Given the description of an element on the screen output the (x, y) to click on. 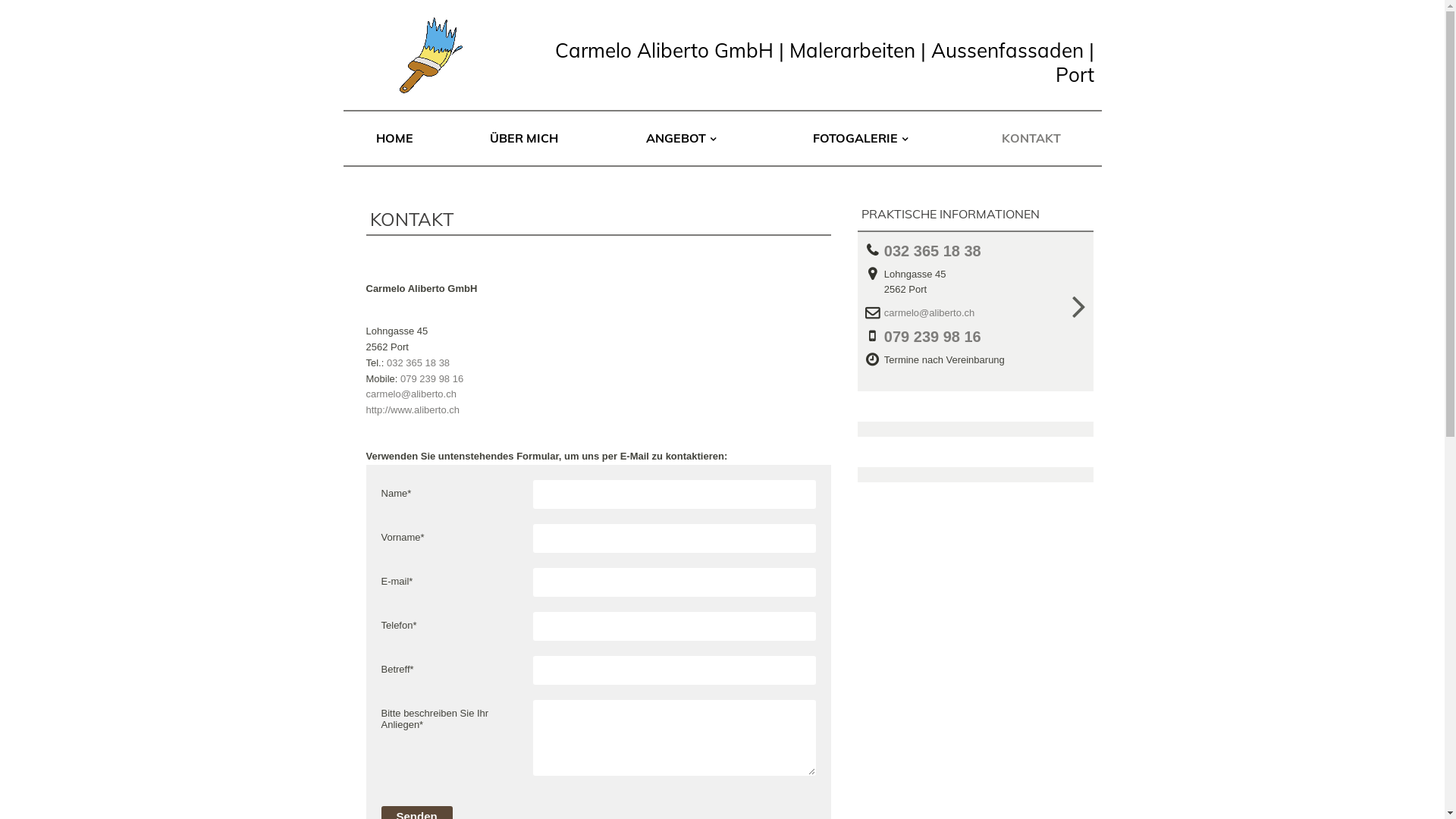
032 365 18 38 Element type: text (936, 251)
carmelo@aliberto.ch Element type: text (410, 393)
KONTAKT Element type: text (1031, 137)
FOTOGALERIE Element type: text (859, 137)
carmelo@aliberto.ch Element type: text (933, 313)
079 239 98 16 Element type: text (431, 378)
http://www.aliberto.ch Element type: text (412, 409)
079 239 98 16 Element type: text (936, 337)
ANGEBOT Element type: text (680, 137)
032 365 18 38 Element type: text (417, 362)
HOME Element type: text (393, 137)
